Given the description of an element on the screen output the (x, y) to click on. 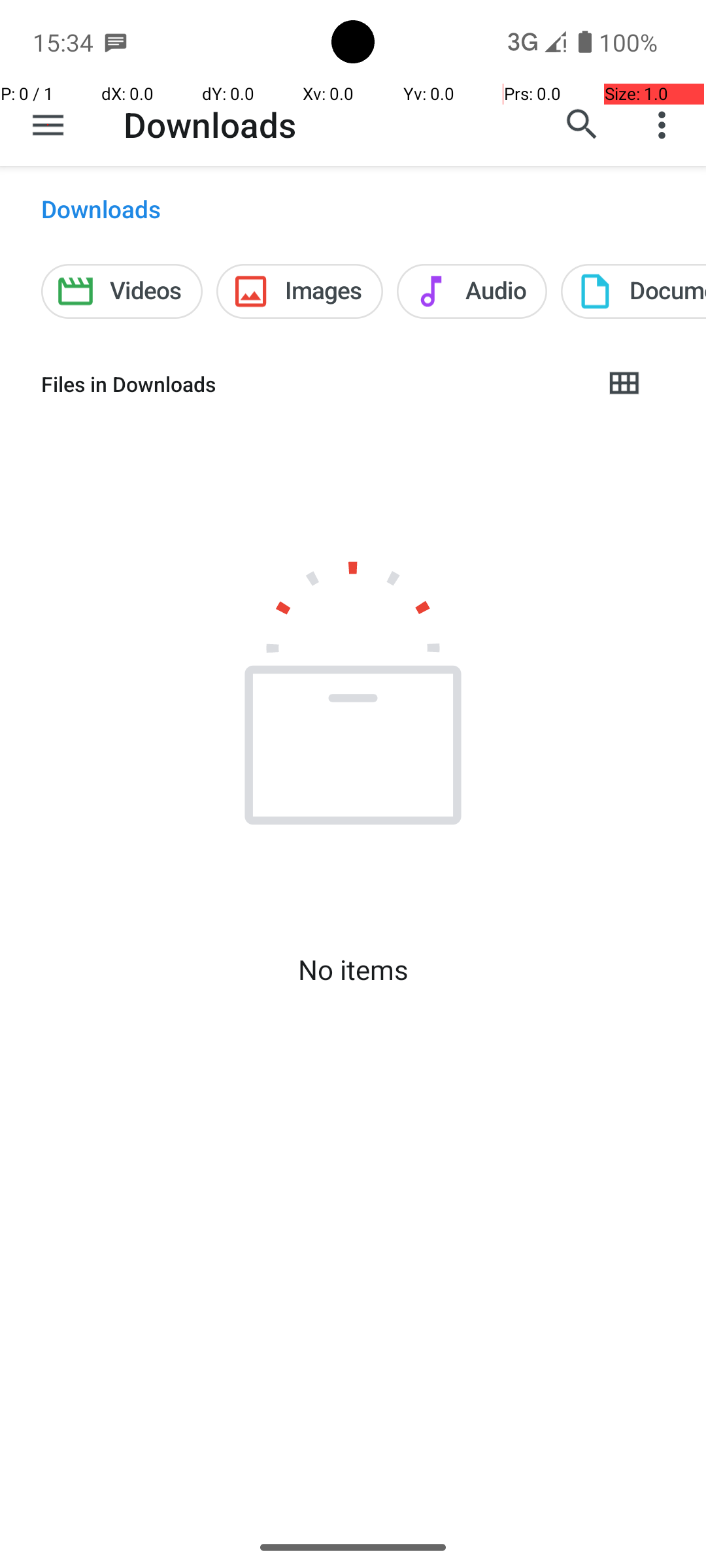
Downloads Element type: android.widget.TextView (209, 124)
Files in Downloads Element type: android.widget.TextView (311, 383)
Grid view Element type: android.widget.TextView (622, 384)
No items Element type: android.widget.TextView (353, 968)
